Given the description of an element on the screen output the (x, y) to click on. 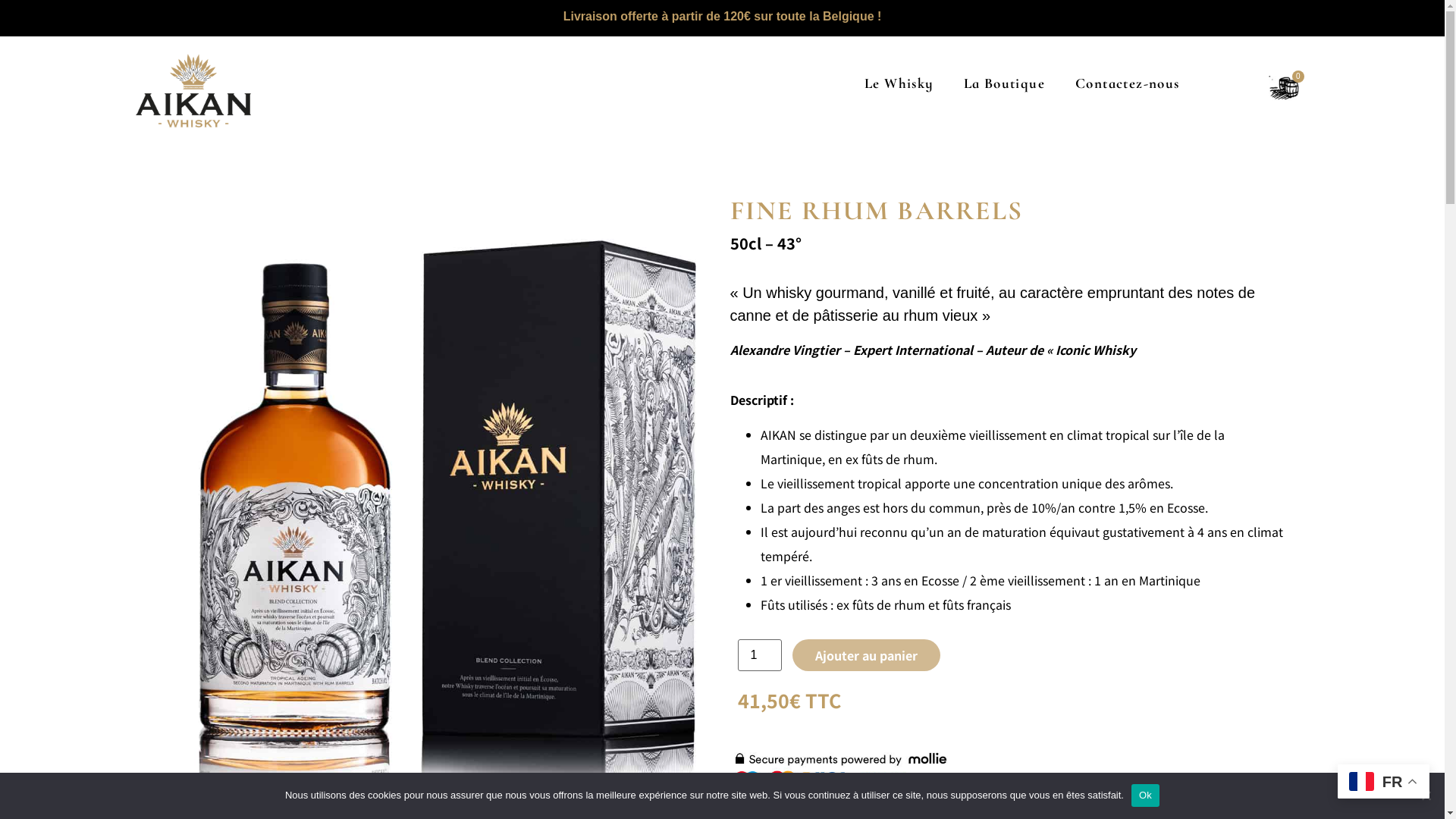
Contactez-nous Element type: text (1127, 82)
Ok Element type: text (1145, 795)
La Boutique Element type: text (1004, 82)
Ajouter au panier Element type: text (866, 655)
Le Whisky Element type: text (898, 82)
No Element type: hover (1425, 795)
